Given the description of an element on the screen output the (x, y) to click on. 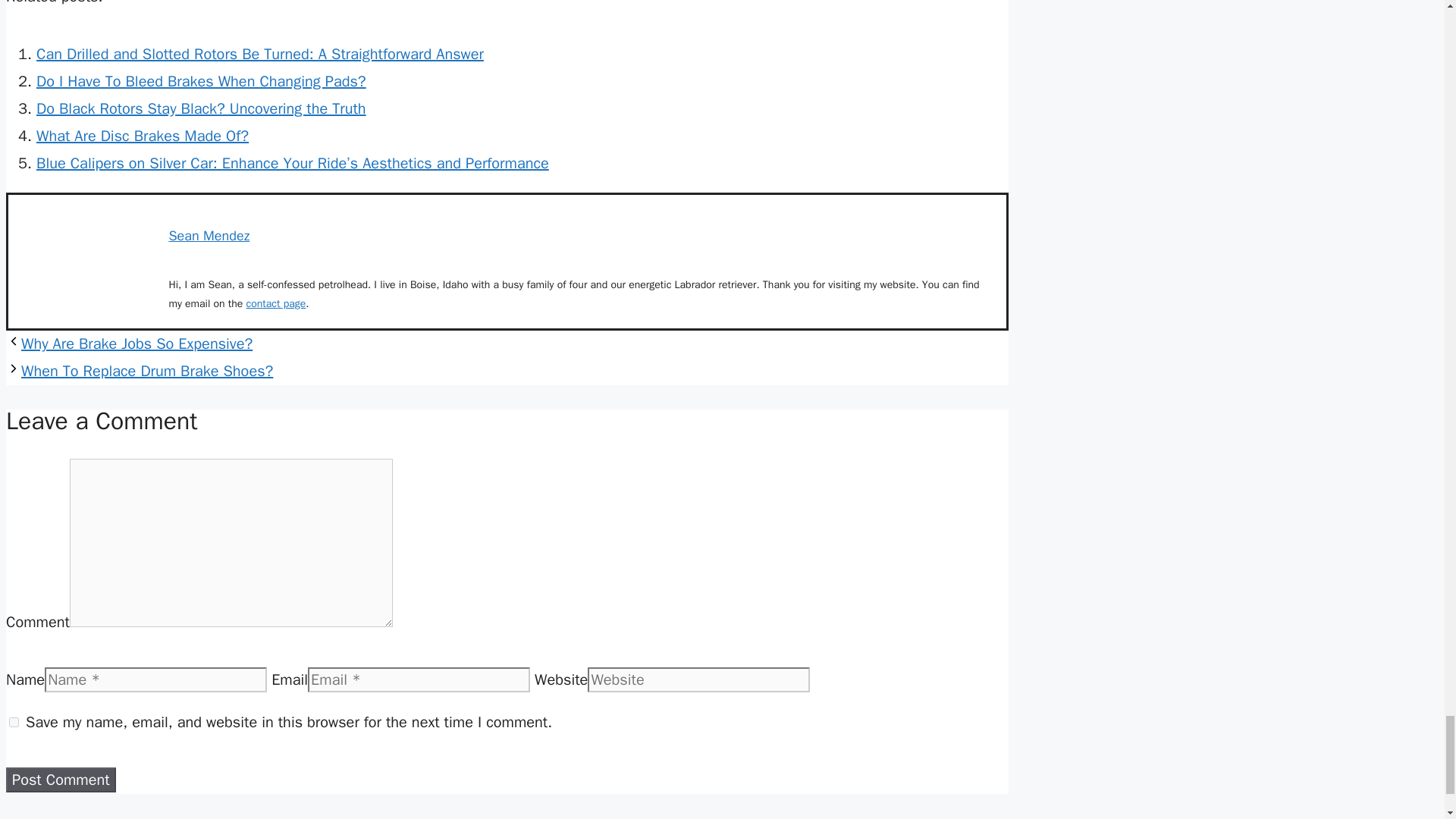
Post Comment (60, 779)
Do Black Rotors Stay Black? Uncovering the Truth (201, 108)
Do I Have To Bleed Brakes When Changing Pads? (201, 81)
What Are Disc Brakes Made Of? (142, 135)
yes (13, 722)
